Given the description of an element on the screen output the (x, y) to click on. 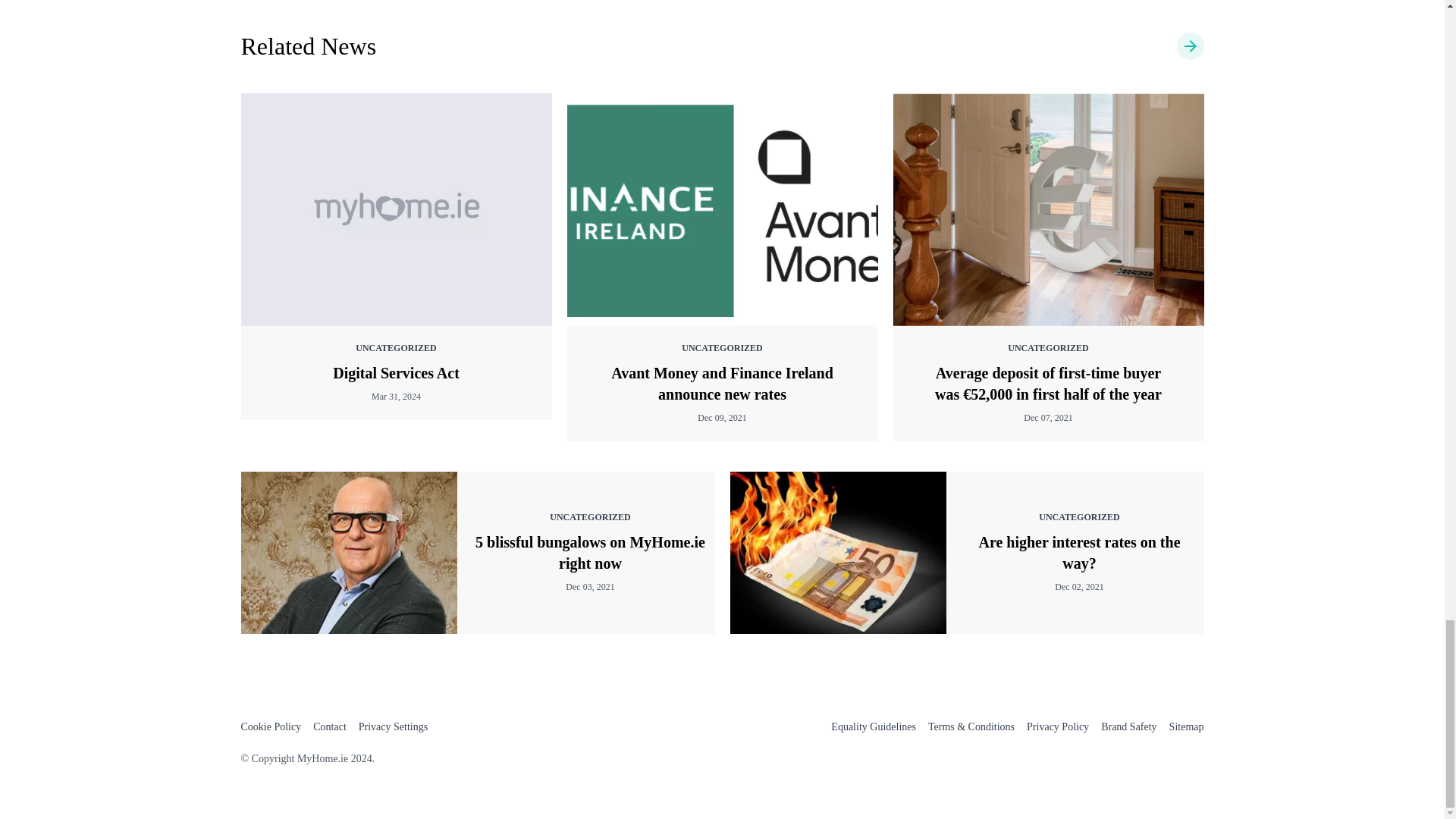
Avant Money and Finance Ireland announce new rates (721, 383)
Uncategorized (309, 46)
Avant Money and Finance Ireland announce new rates (722, 209)
Uncategorized (1190, 45)
